Given the description of an element on the screen output the (x, y) to click on. 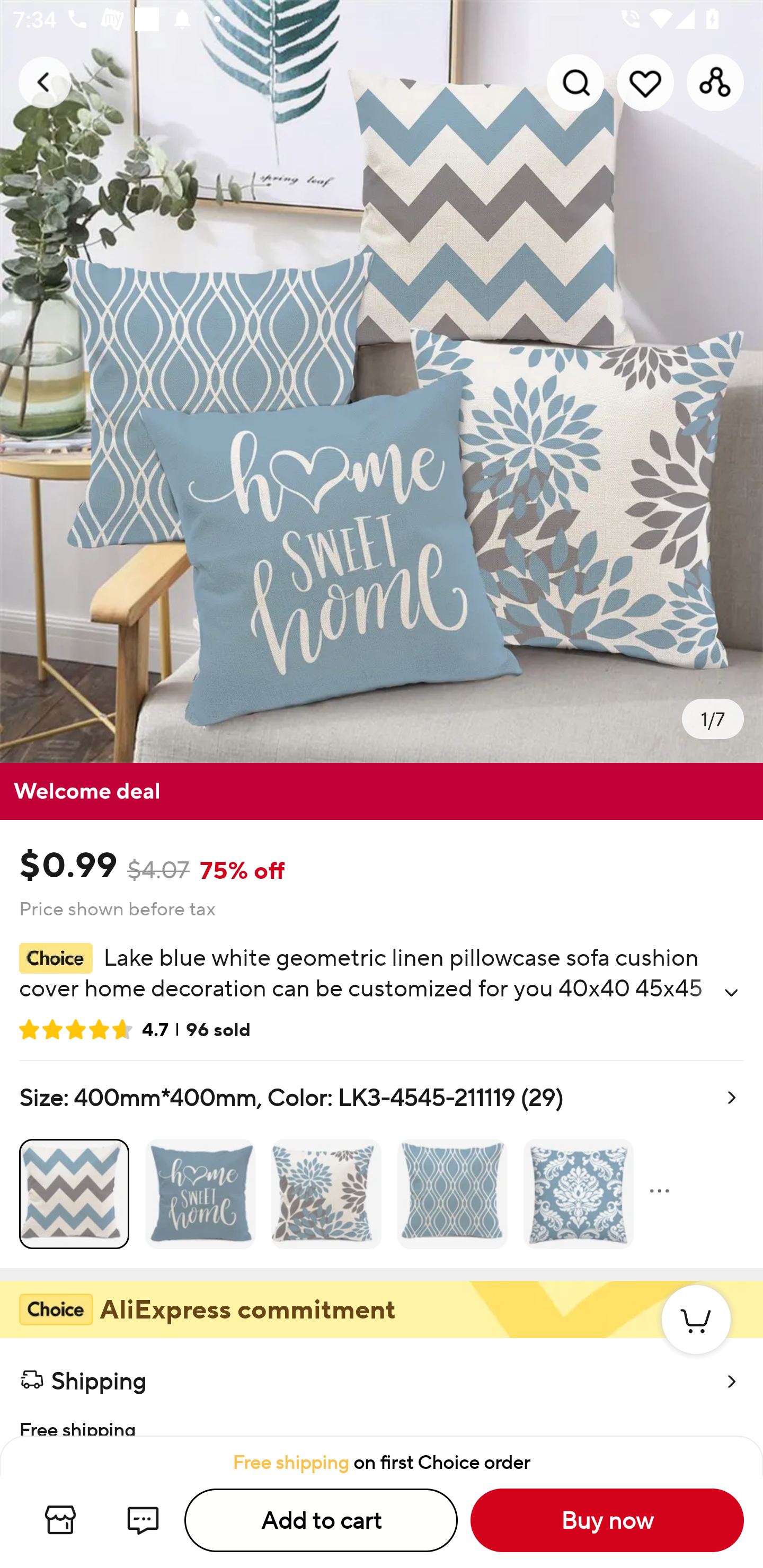
Navigate up (44, 82)
 (730, 992)
Size: 400mm*400mm, Color: LK3-4545-211119 (29)  (381, 1164)
Shipping  Free shipping  (381, 1386)
Add to cart (320, 1520)
Buy now (606, 1520)
